Given the description of an element on the screen output the (x, y) to click on. 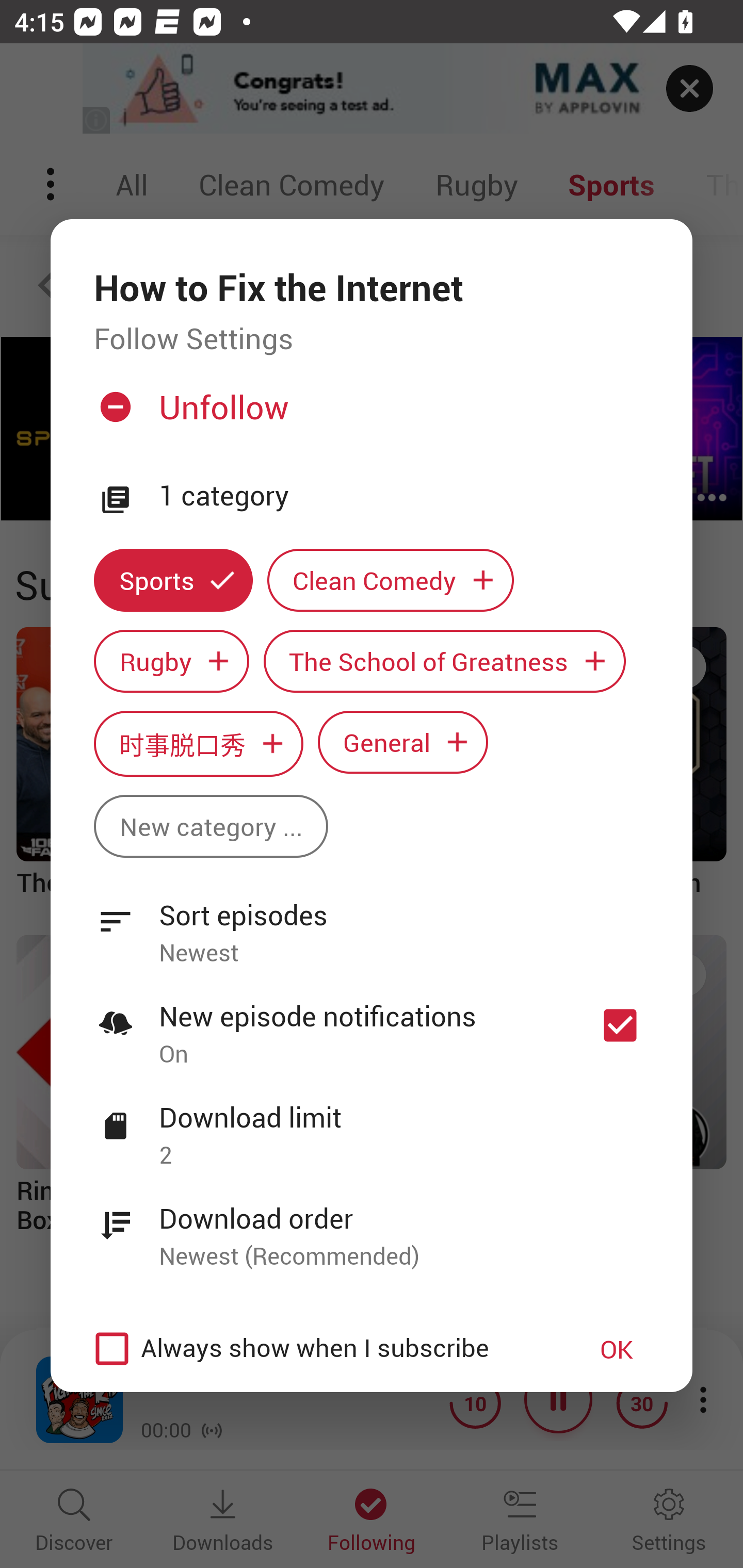
Unfollow (369, 415)
1 category (404, 495)
Sports (172, 579)
Clean Comedy (390, 579)
Rugby (170, 661)
The School of Greatness (444, 661)
时事脱口秀 (198, 743)
General (403, 741)
New category ... (210, 825)
Sort episodes Newest (371, 922)
New episode notifications (620, 1025)
Download limit 2 (371, 1125)
Download order Newest (Recommended) (371, 1226)
OK (616, 1349)
Always show when I subscribe (320, 1349)
